Given the description of an element on the screen output the (x, y) to click on. 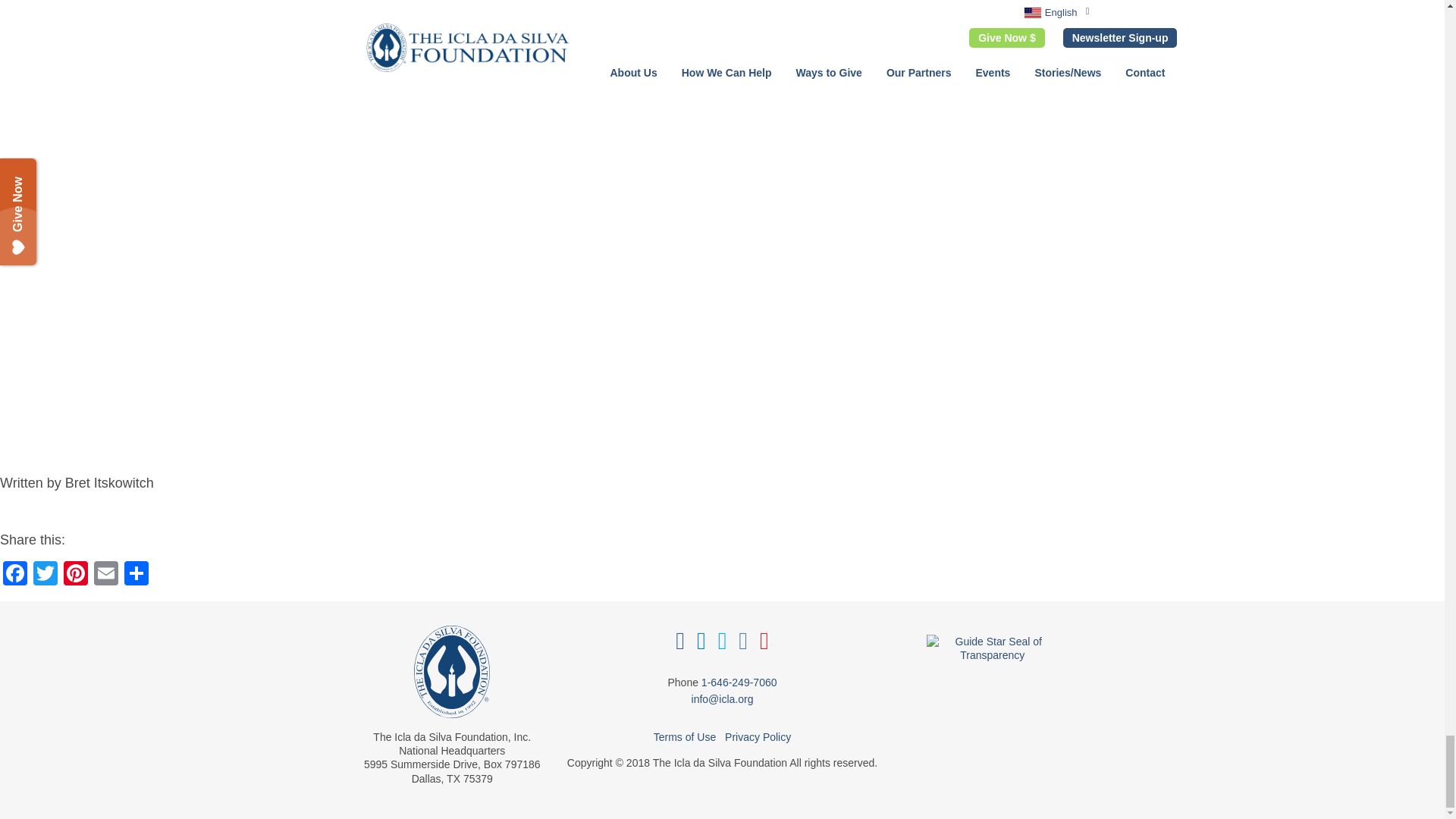
Email (105, 574)
Facebook (15, 574)
Twitter (45, 574)
Pinterest (75, 574)
